Given the description of an element on the screen output the (x, y) to click on. 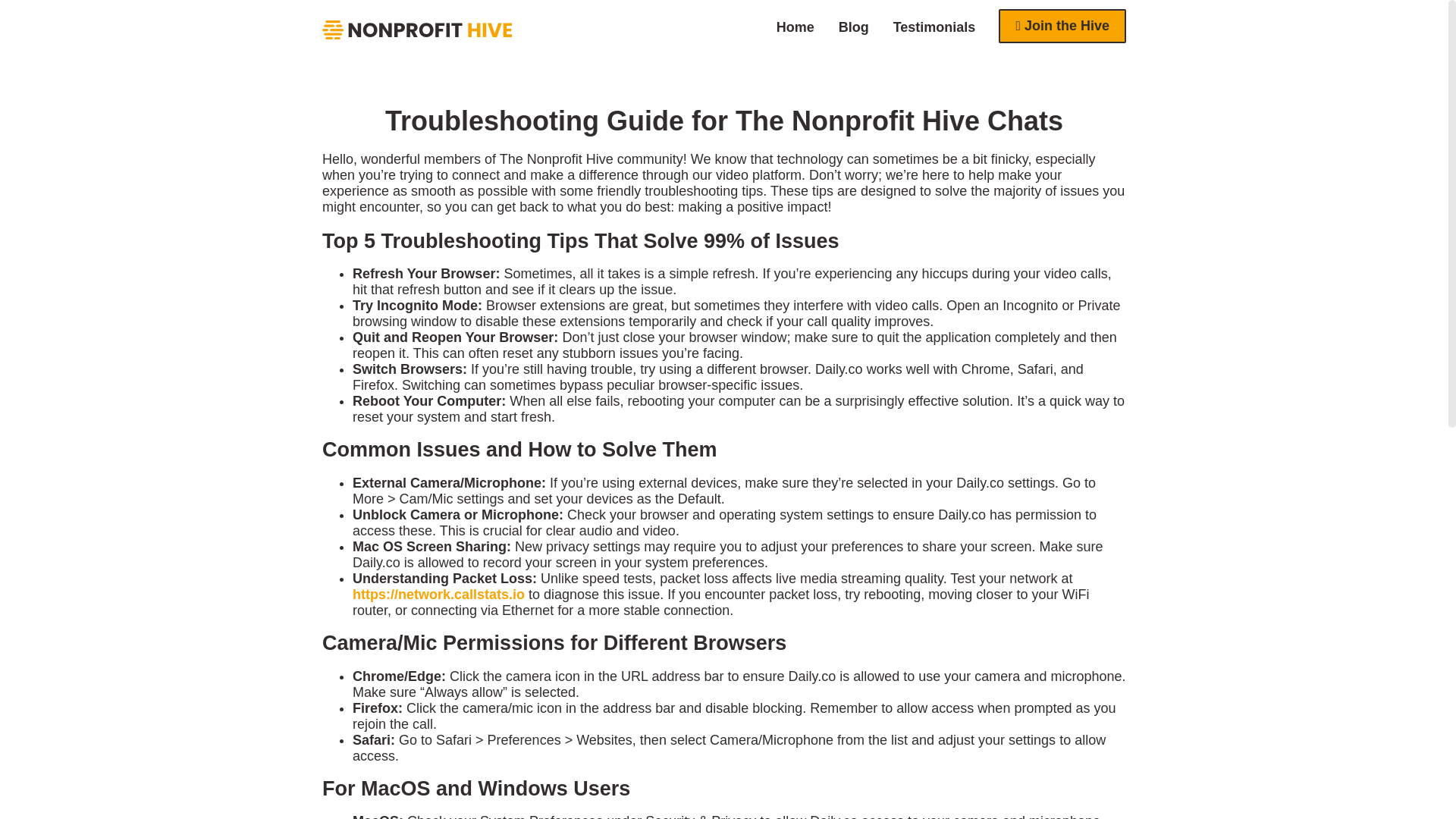
Home (795, 27)
Nonprofit Hive (416, 29)
Blog (853, 27)
Testimonials (934, 27)
